Given the description of an element on the screen output the (x, y) to click on. 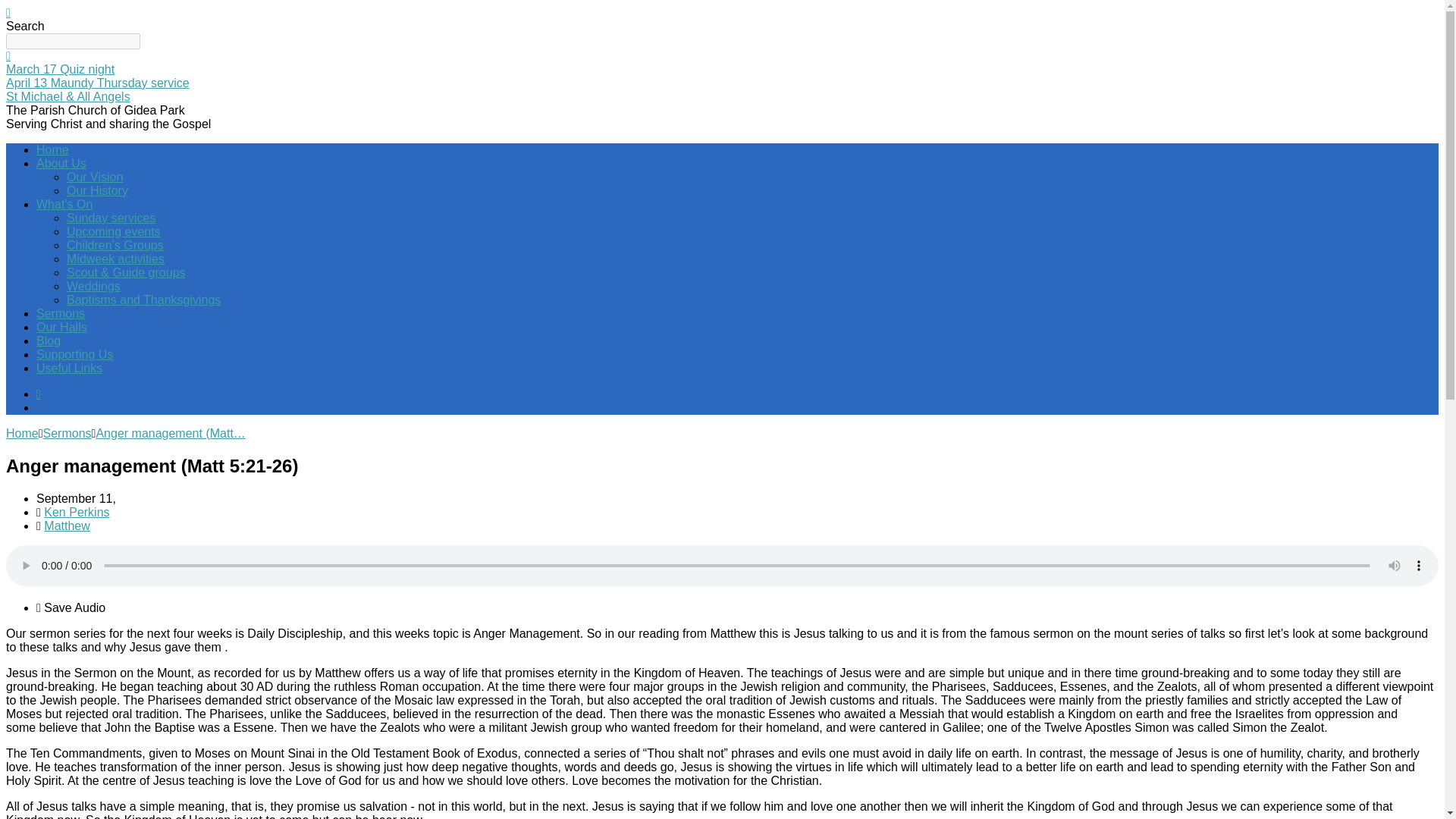
Upcoming events (113, 231)
Midweek activities (115, 258)
April 13 Maundy Thursday service (97, 82)
About Us (60, 163)
Weddings (93, 286)
Matthew (65, 525)
Maundy Thursday service (97, 82)
Quiz night (60, 69)
Sunday services (110, 217)
Supporting Us (74, 354)
